Given the description of an element on the screen output the (x, y) to click on. 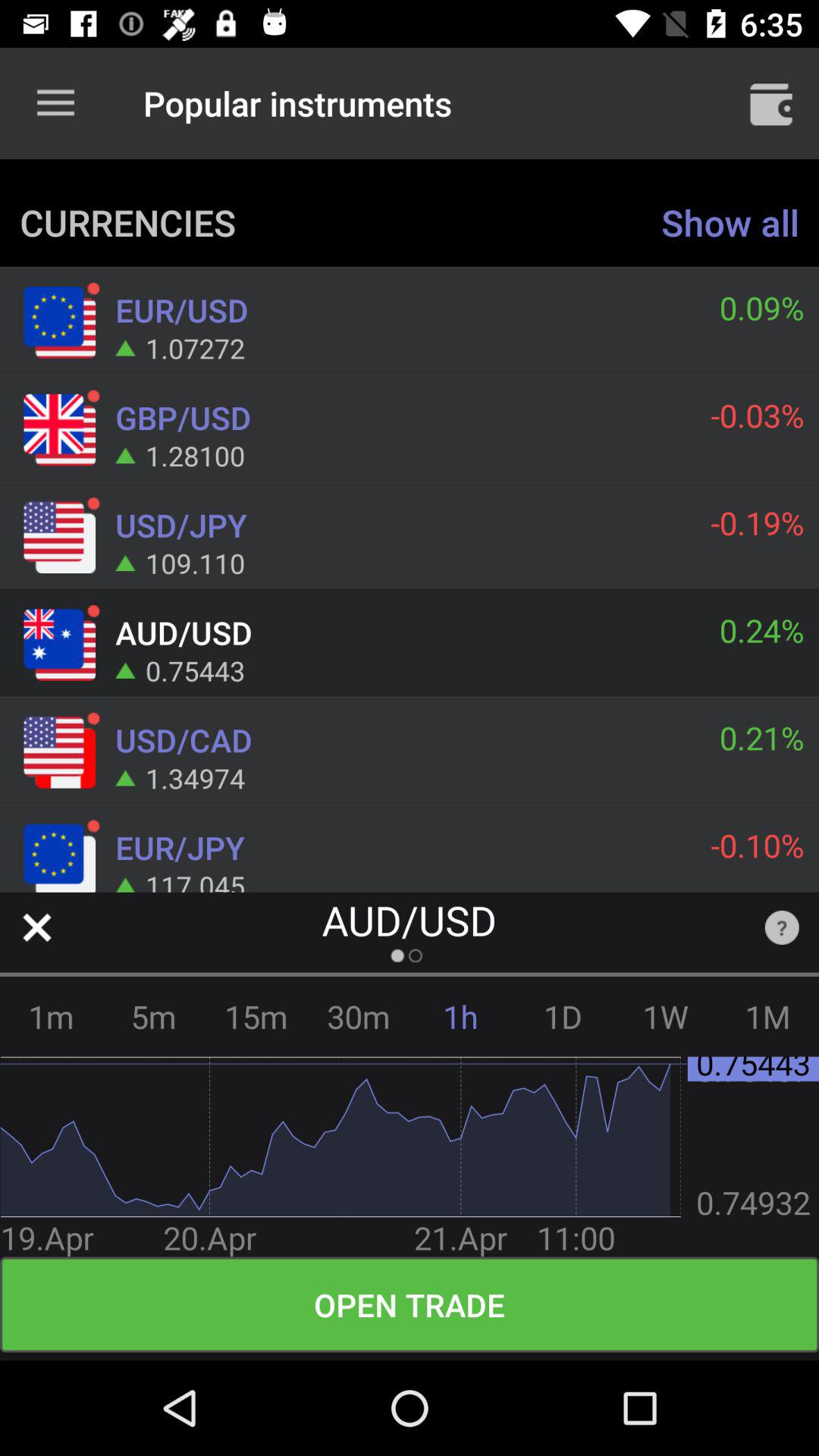
launch the icon next to 30m icon (255, 1016)
